Given the description of an element on the screen output the (x, y) to click on. 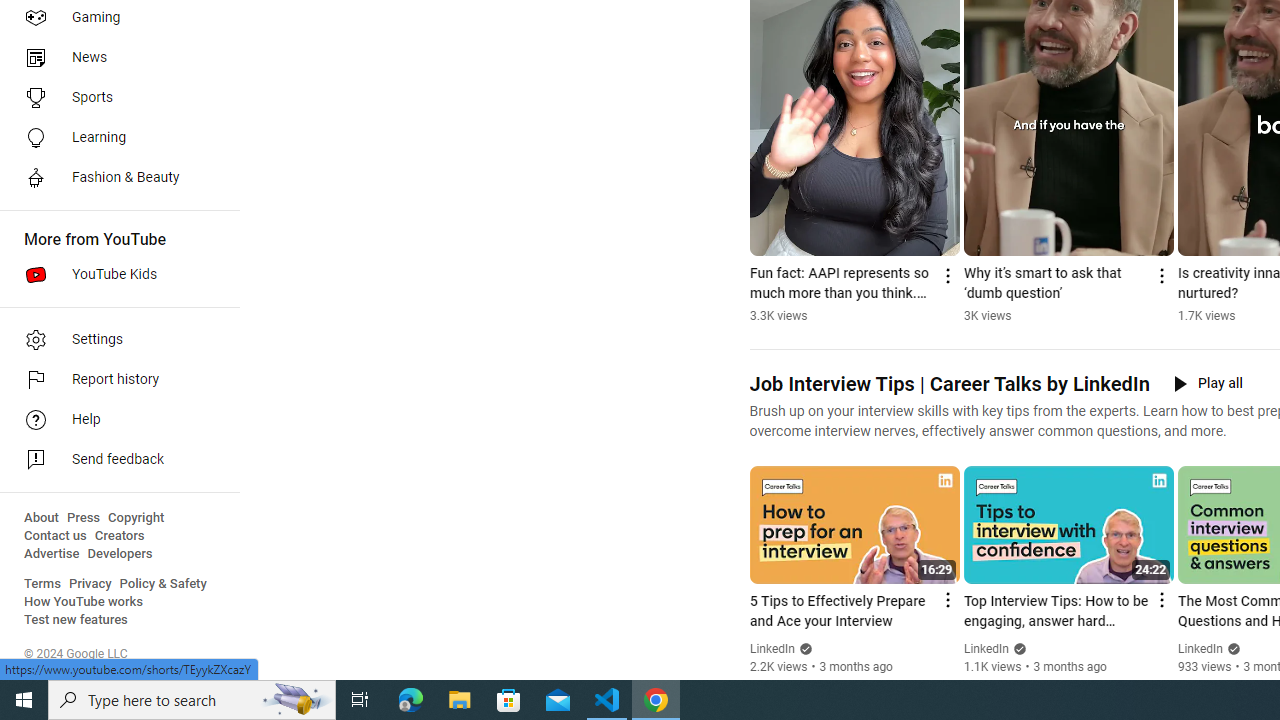
YouTube Kids (113, 274)
Report history (113, 380)
How YouTube works (83, 602)
Learning (113, 137)
Send feedback (113, 459)
Press (83, 518)
Sports (113, 97)
Test new features (76, 620)
Play all (1208, 384)
